Given the description of an element on the screen output the (x, y) to click on. 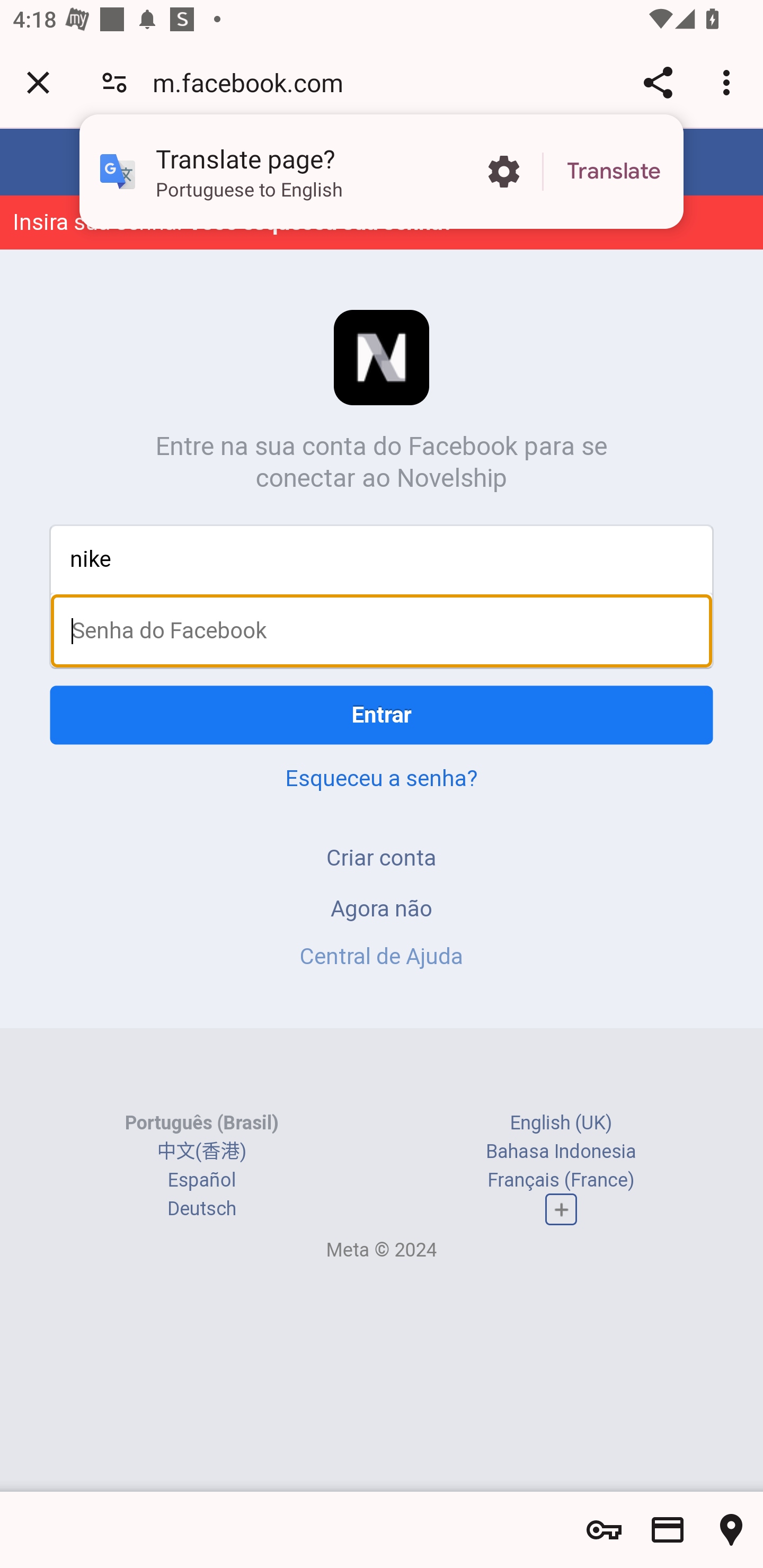
Close tab (38, 82)
Share (657, 82)
Customize and control Google Chrome (729, 82)
Connection is secure (114, 81)
m.facebook.com (254, 81)
Translate (613, 171)
More options in the Translate page? (503, 171)
nike (381, 558)
Entrar (381, 714)
Esqueceu a senha? (381, 778)
Criar conta (381, 856)
Agora não (381, 908)
Central de Ajuda (381, 955)
English (UK) (560, 1065)
中文(香港) (201, 1093)
Bahasa Indonesia (560, 1093)
Español (201, 1122)
Français (France) (560, 1122)
Lista completa de idiomas (560, 1152)
Deutsch (201, 1151)
Show saved passwords and password options (603, 1530)
Show saved payment methods (667, 1530)
Show saved addresses (731, 1530)
